Given the description of an element on the screen output the (x, y) to click on. 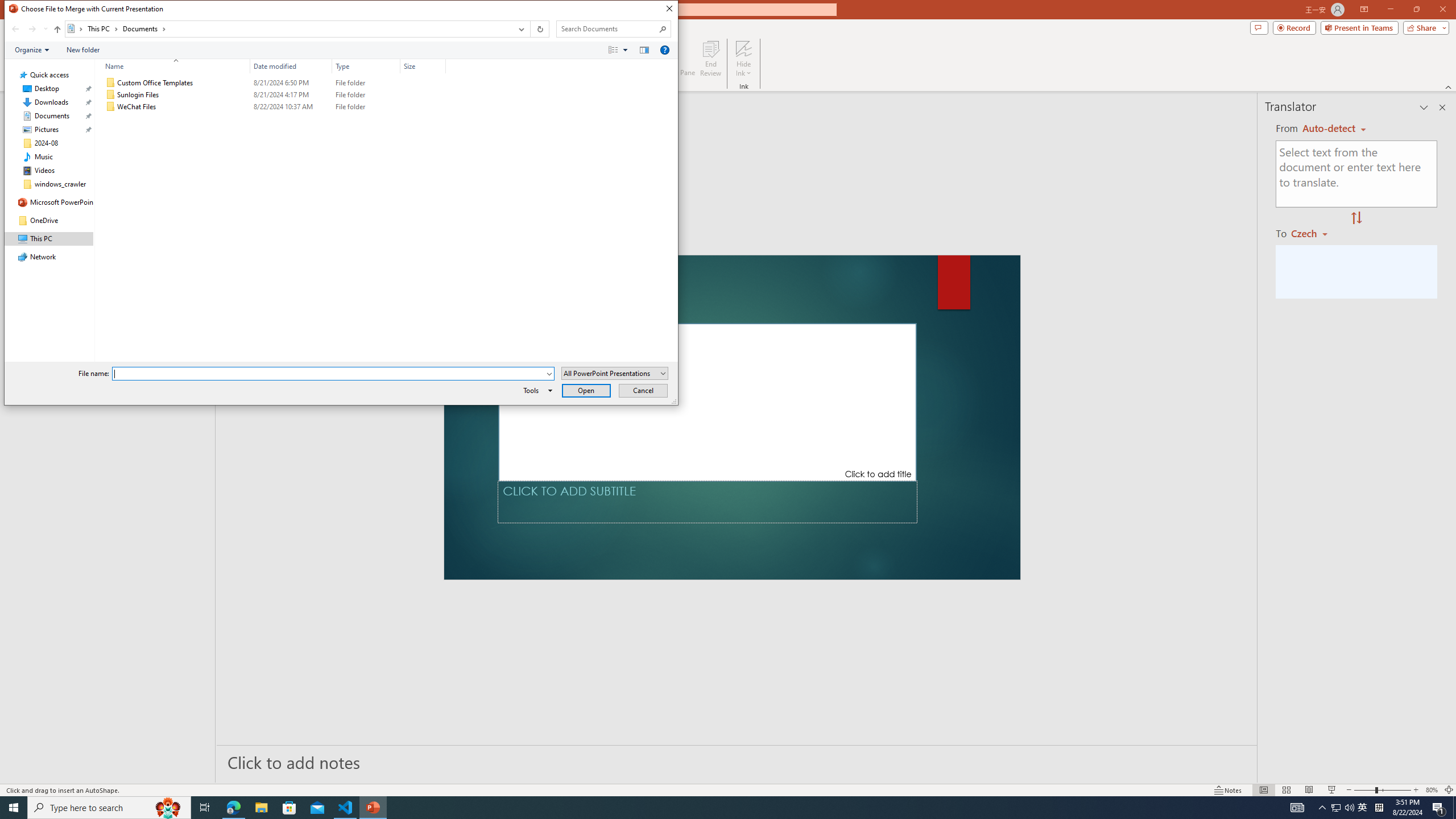
Custom Office Templates (273, 82)
Views (620, 49)
This PC (102, 28)
New folder (82, 49)
Address: Documents (288, 28)
File name: (329, 373)
